Given the description of an element on the screen output the (x, y) to click on. 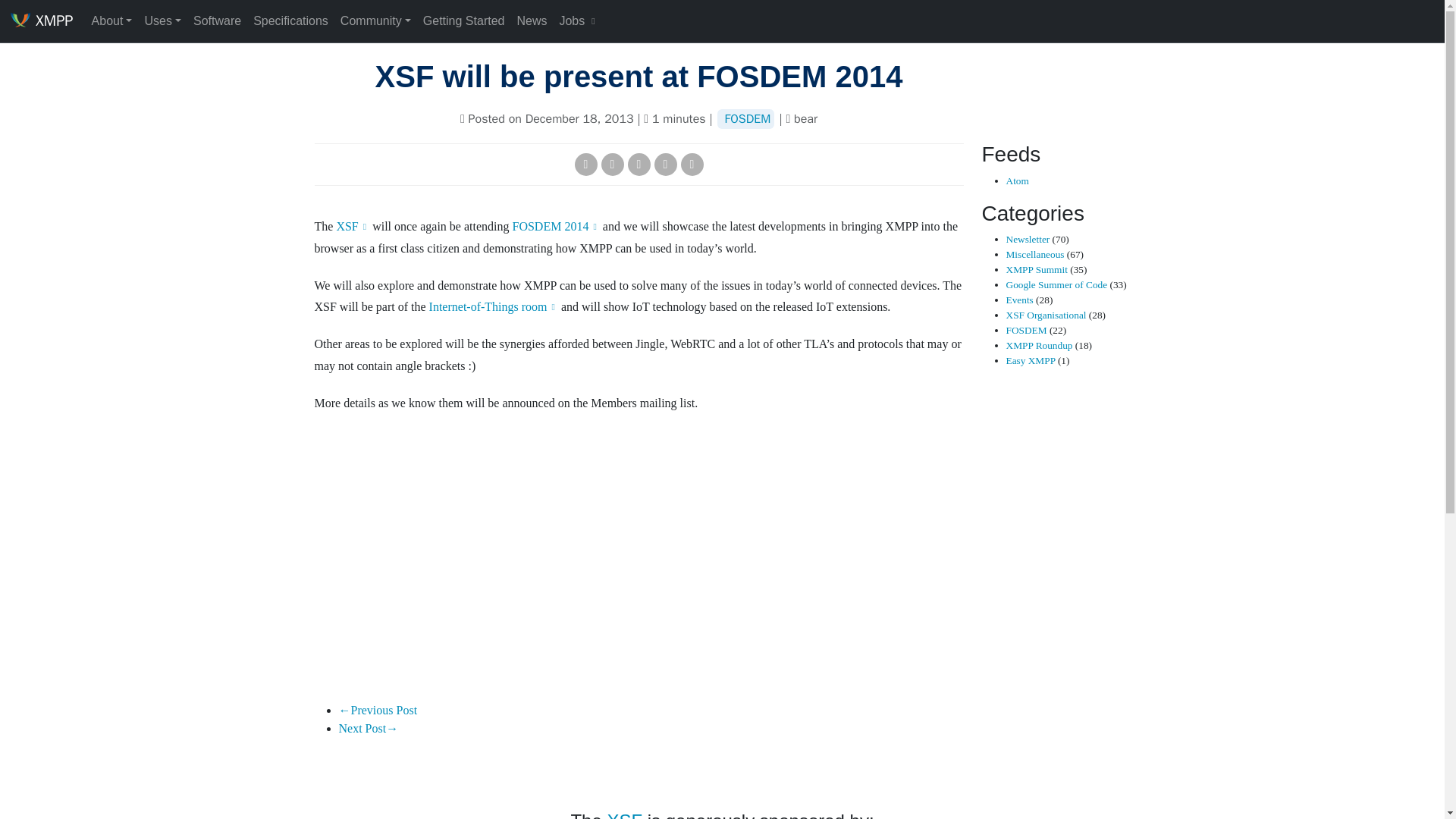
Membership Application Period for Q4 2013 has begun (367, 727)
Software (217, 20)
Getting Started (463, 20)
Community (375, 20)
Security Test Day - it's fast approaching (376, 709)
XSF will be present at FOSDEM 2014 (638, 76)
Share on Facebook (611, 164)
Specifications (290, 20)
Share on LinkedIn (665, 164)
Uses (162, 20)
